Given the description of an element on the screen output the (x, y) to click on. 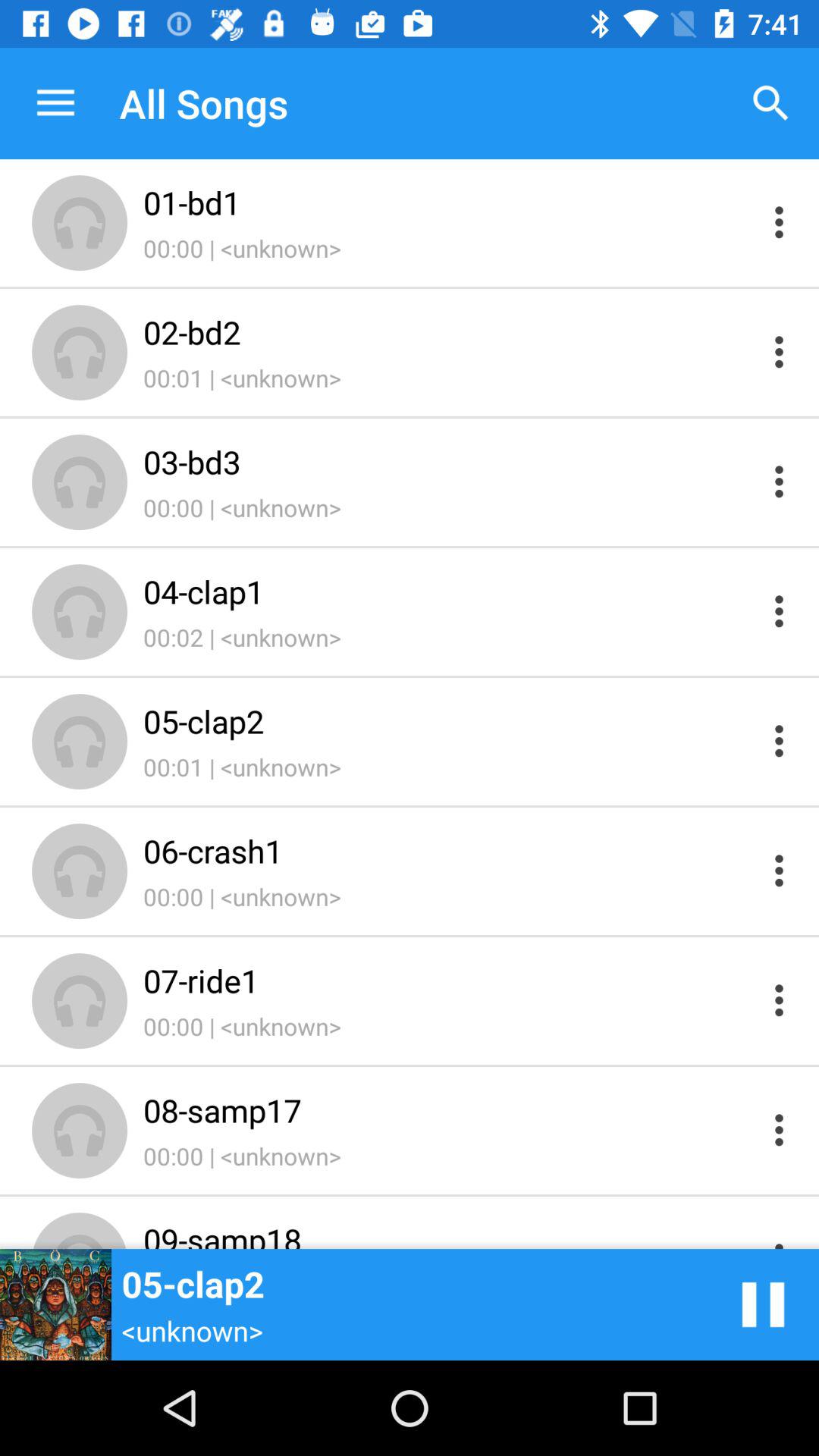
click icon next to 06-crash1 icon (763, 1304)
